Given the description of an element on the screen output the (x, y) to click on. 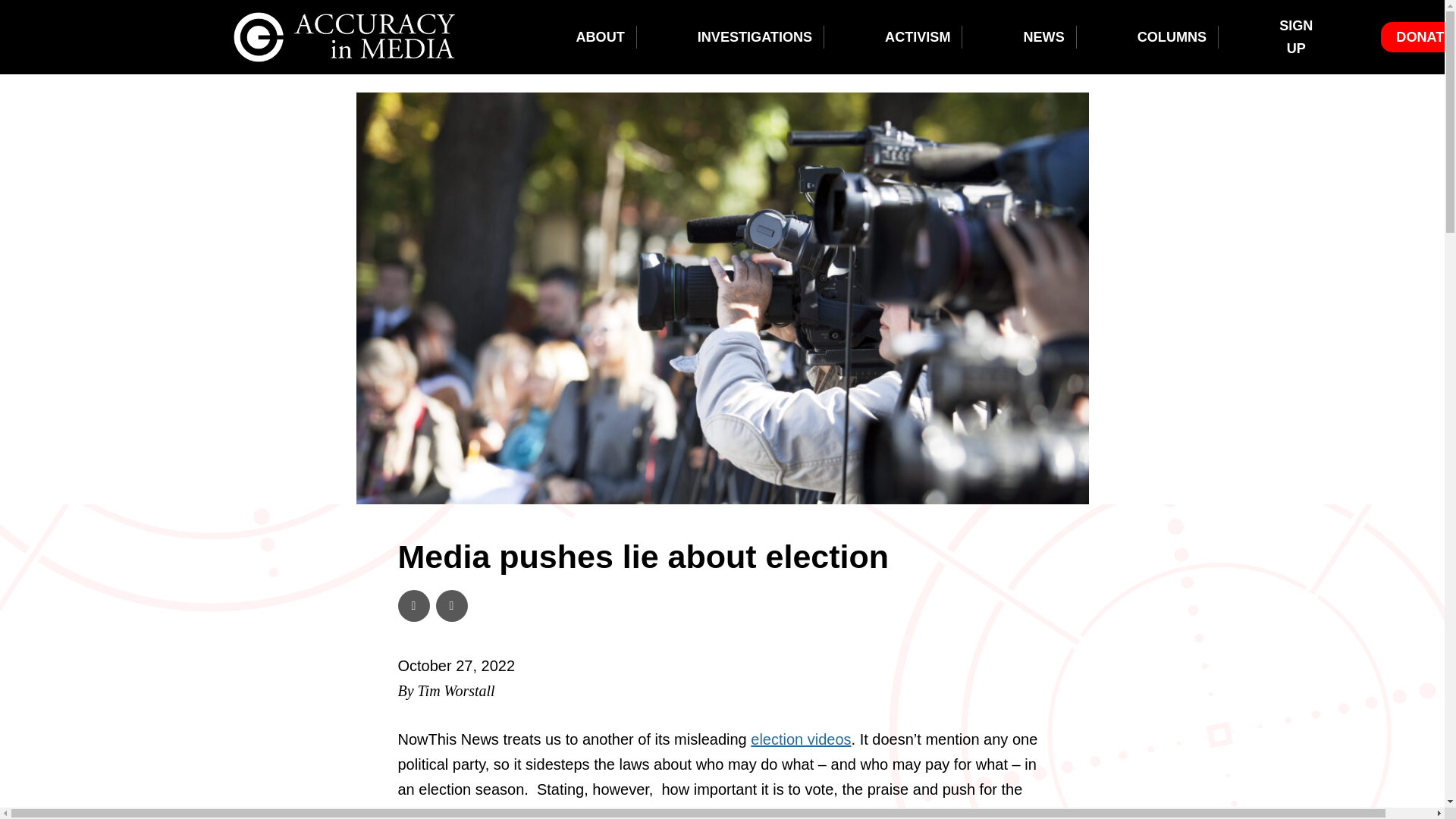
ACTIVISM (917, 37)
ABOUT (599, 37)
NEWS (1043, 37)
election videos (800, 739)
COLUMNS (1172, 37)
INVESTIGATIONS (754, 37)
DONATE (1424, 37)
